Given the description of an element on the screen output the (x, y) to click on. 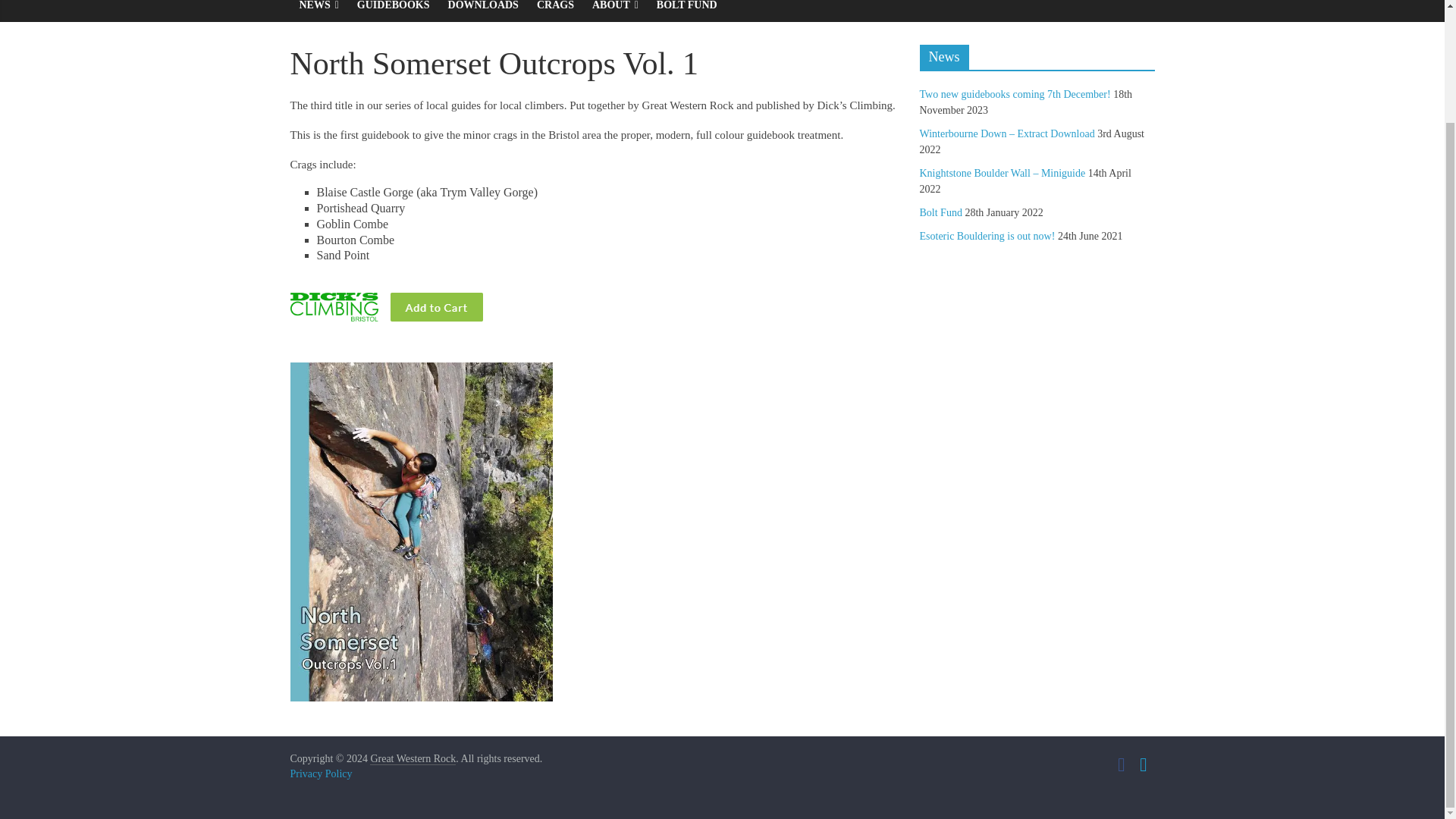
Great Western Rock (412, 758)
GUIDEBOOKS (393, 10)
NEWS (318, 10)
Two new guidebooks coming 7th December! (1013, 93)
Esoteric Bouldering is out now! (986, 235)
Privacy Policy (320, 773)
BOLT FUND (686, 10)
ABOUT (615, 10)
Great Western Rock (412, 758)
DOWNLOADS (483, 10)
CRAGS (555, 10)
Bolt Fund (939, 212)
